Given the description of an element on the screen output the (x, y) to click on. 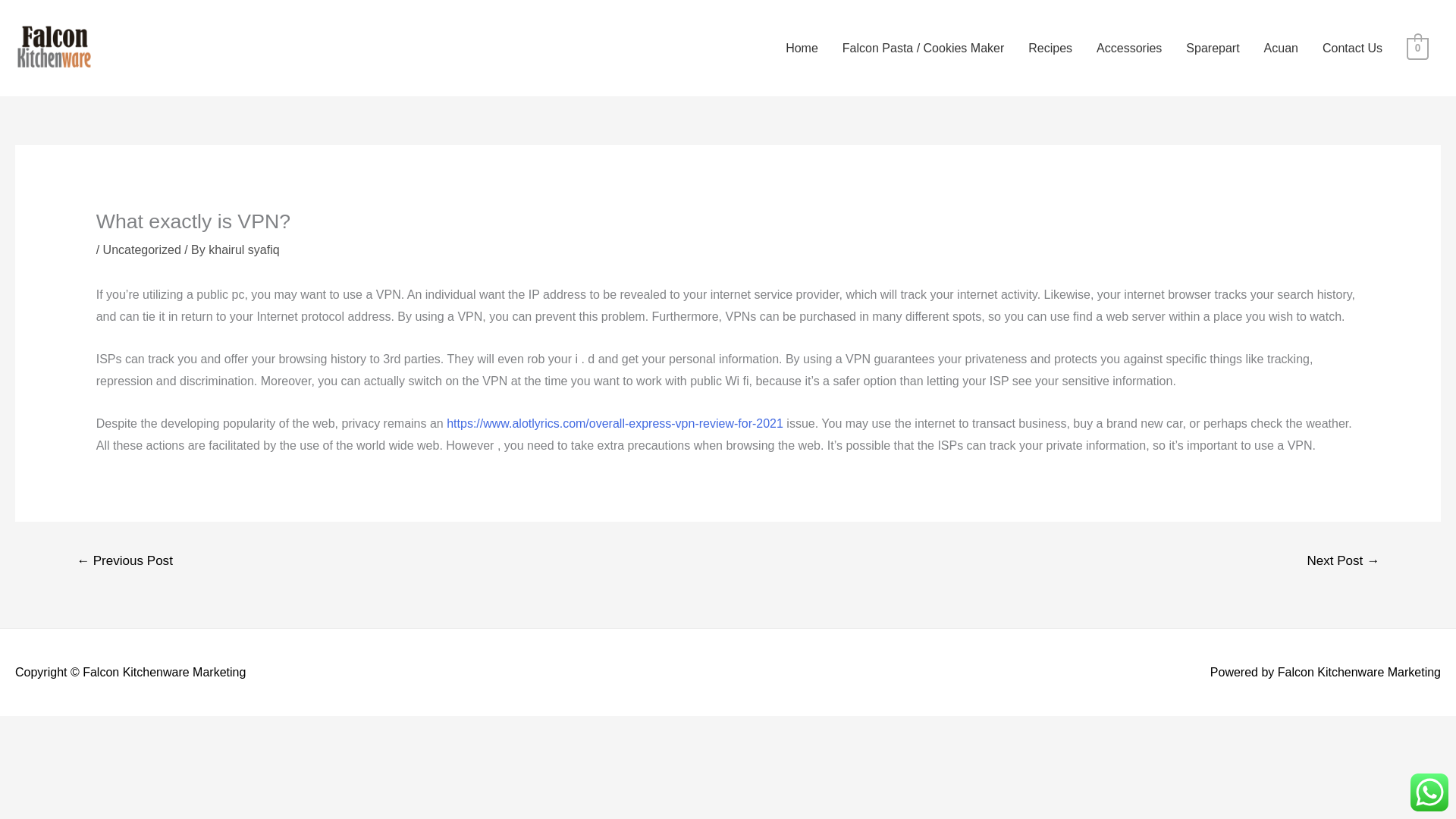
Contact Us (1352, 48)
View all posts by khairul syafiq (243, 249)
Home (801, 48)
Uncategorized (141, 249)
0 (1417, 47)
Sparepart (1211, 48)
khairul syafiq (243, 249)
Accessories (1128, 48)
Recipes (1050, 48)
Acuan (1281, 48)
